Given the description of an element on the screen output the (x, y) to click on. 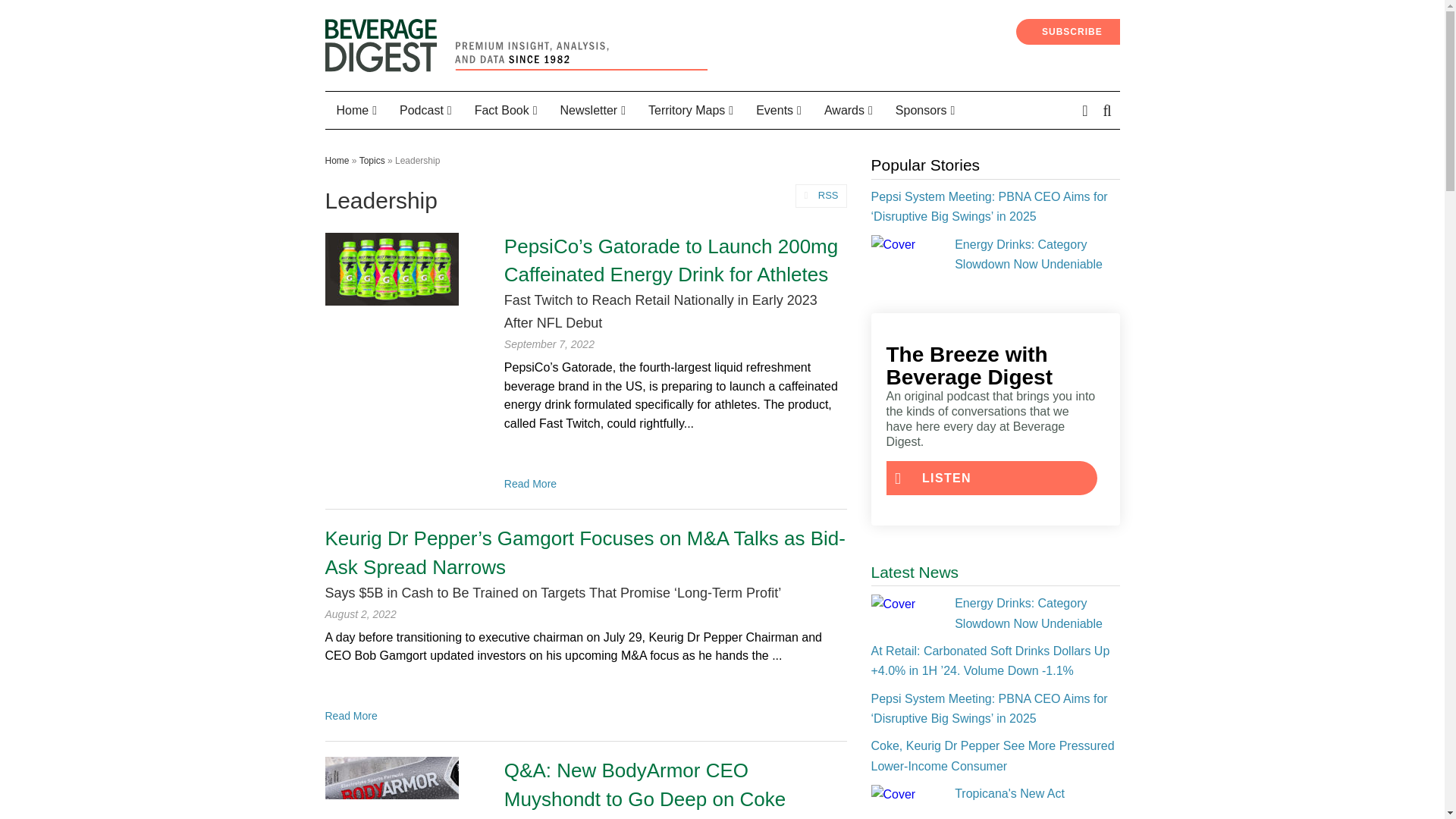
Podcast (425, 110)
1-lead.jpg (391, 787)
Fact Book (505, 110)
Newsletter (592, 110)
SUBSCRIBE (1067, 31)
4-fast-twitch.jpg (391, 268)
Territory Maps (690, 110)
Home (356, 110)
Events (778, 110)
